Given the description of an element on the screen output the (x, y) to click on. 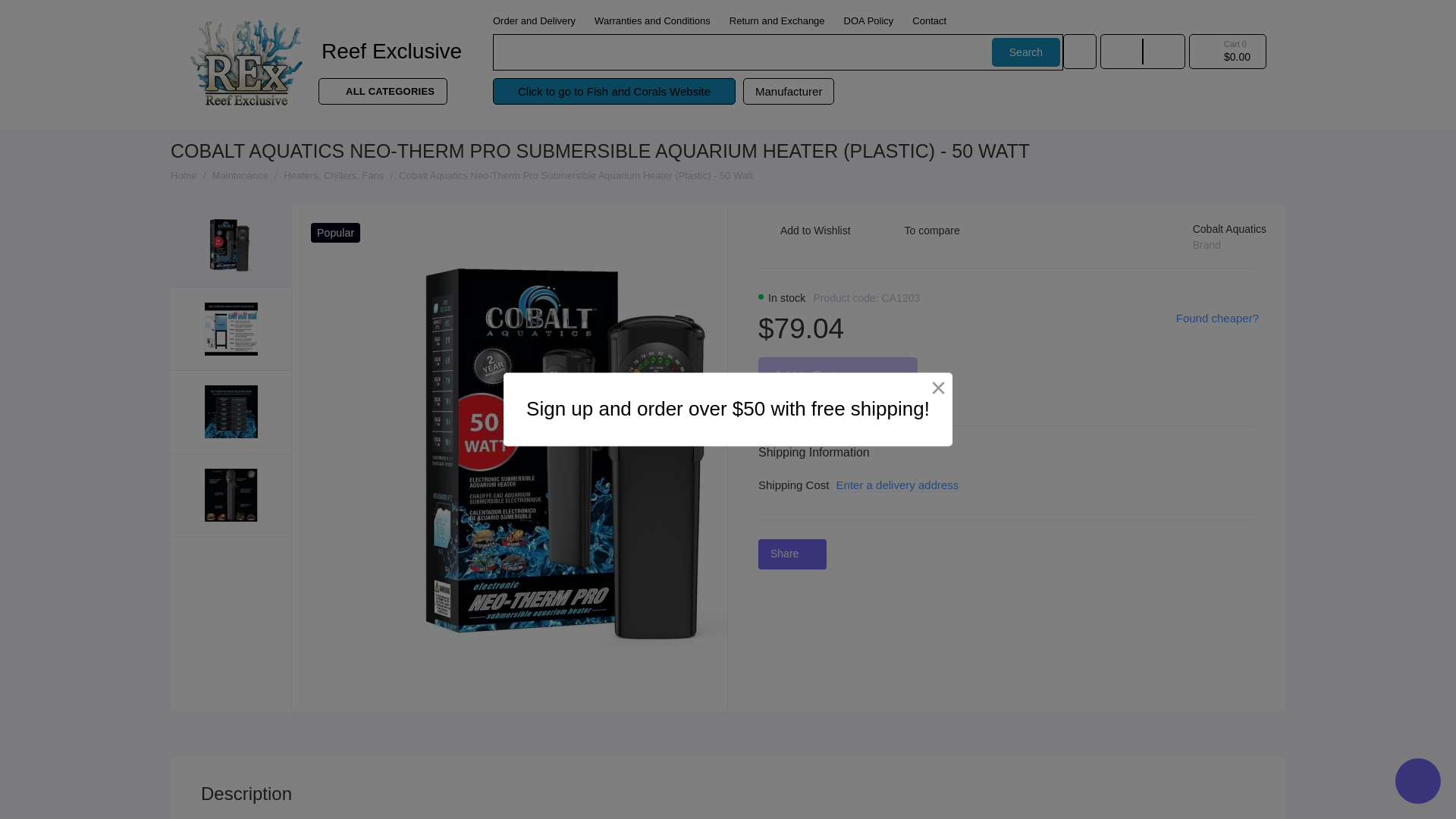
DOA Policy (868, 20)
Search (1025, 51)
Contact (929, 20)
Reef Exclusive (397, 51)
ALL CATEGORIES (382, 90)
Compare this Product (919, 237)
Warranties and Conditions (652, 20)
Order and Delivery (534, 20)
Add to Wish List (804, 237)
Return and Exchange (777, 20)
